Given the description of an element on the screen output the (x, y) to click on. 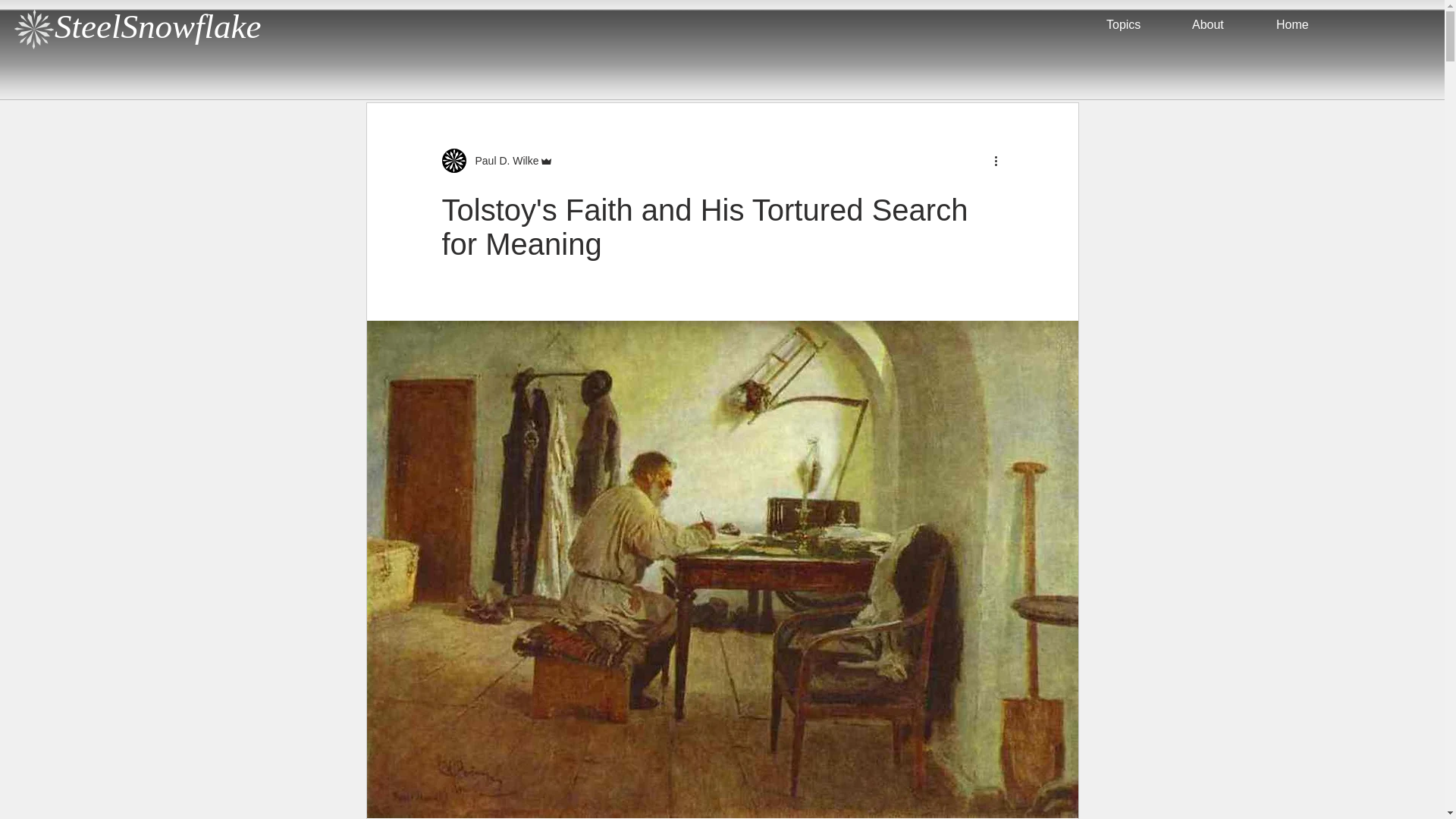
SteelSnowflake (157, 25)
Paul D. Wilke (501, 160)
Topics (1137, 24)
Home (1307, 24)
About (1222, 24)
